Given the description of an element on the screen output the (x, y) to click on. 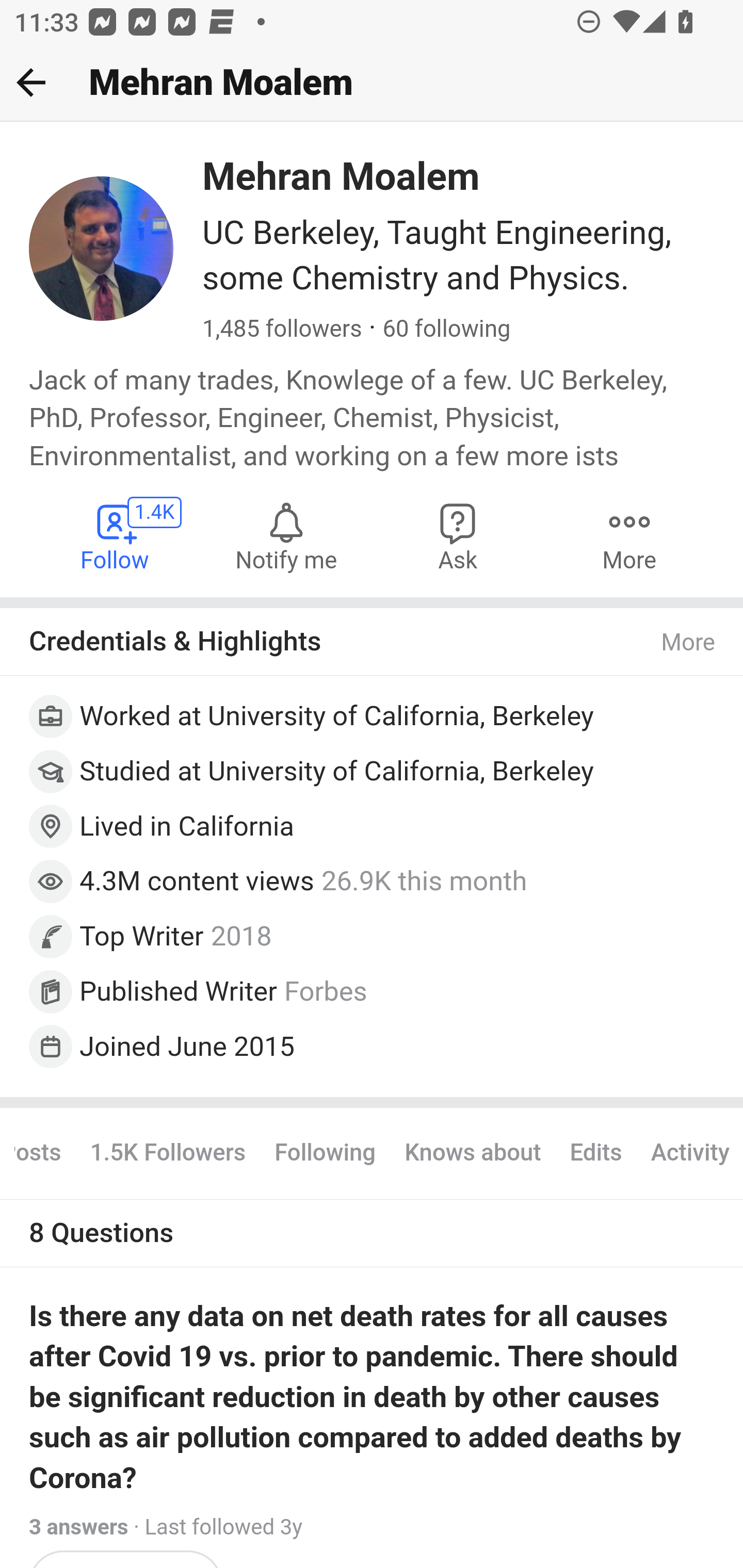
Back (30, 82)
1,485 followers (282, 329)
60 following (445, 329)
Follow Mehran Moalem 1.4K Follow (115, 536)
Notify me (285, 536)
Ask (458, 536)
More (628, 536)
More (688, 642)
Published Writer (178, 990)
1.5K Followers (167, 1153)
Following (325, 1153)
Knows about (473, 1153)
Edits (595, 1153)
Activity (689, 1153)
3 answers 3  answers (79, 1527)
